Given the description of an element on the screen output the (x, y) to click on. 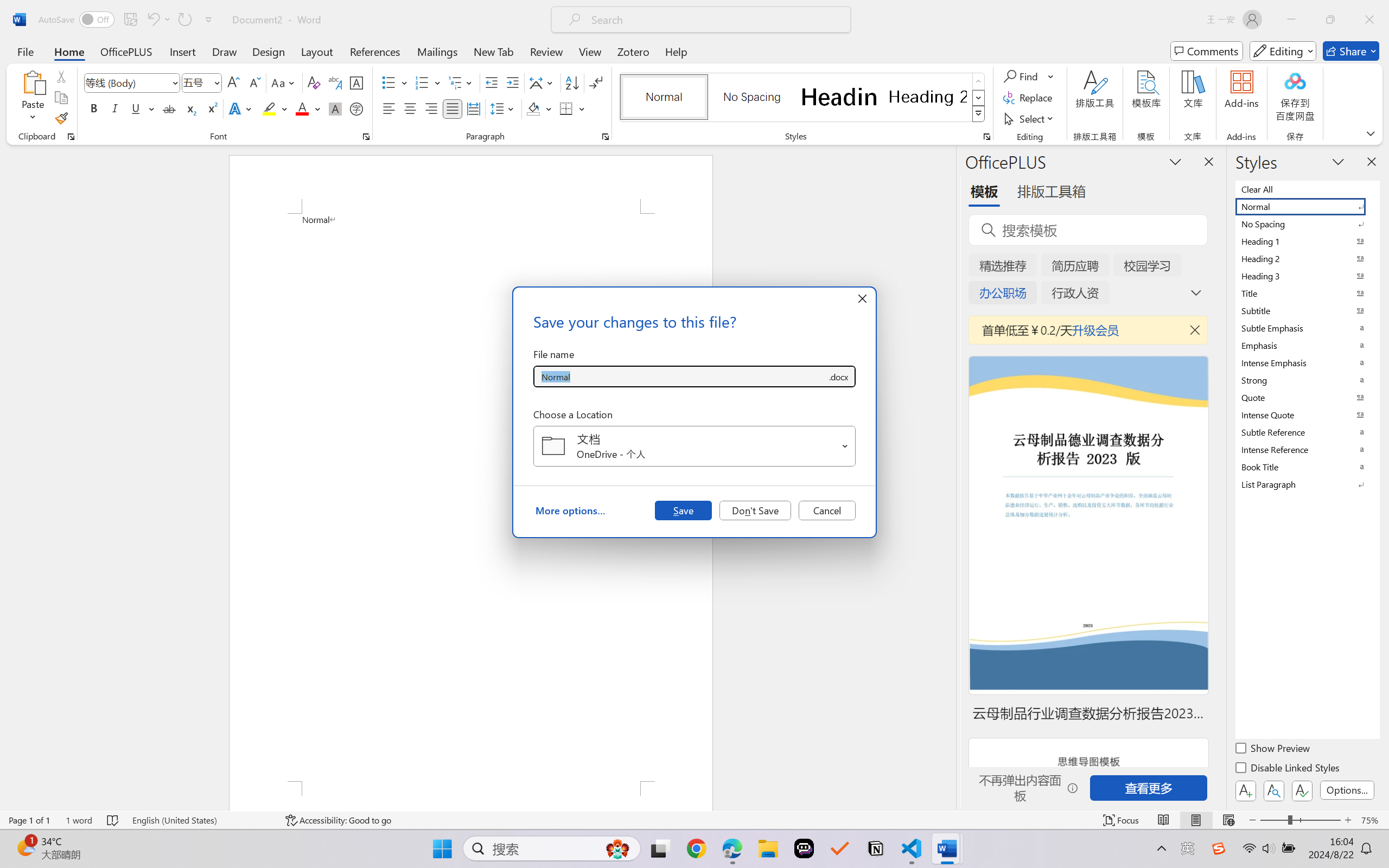
New Tab (493, 51)
Design (268, 51)
Paste (33, 81)
Class: NetUIImage (978, 114)
AutomationID: QuickStylesGallery (802, 97)
Minimize (1291, 19)
Share (1350, 51)
Quote (1306, 397)
Draw (224, 51)
Intense Quote (1306, 414)
